Given the description of an element on the screen output the (x, y) to click on. 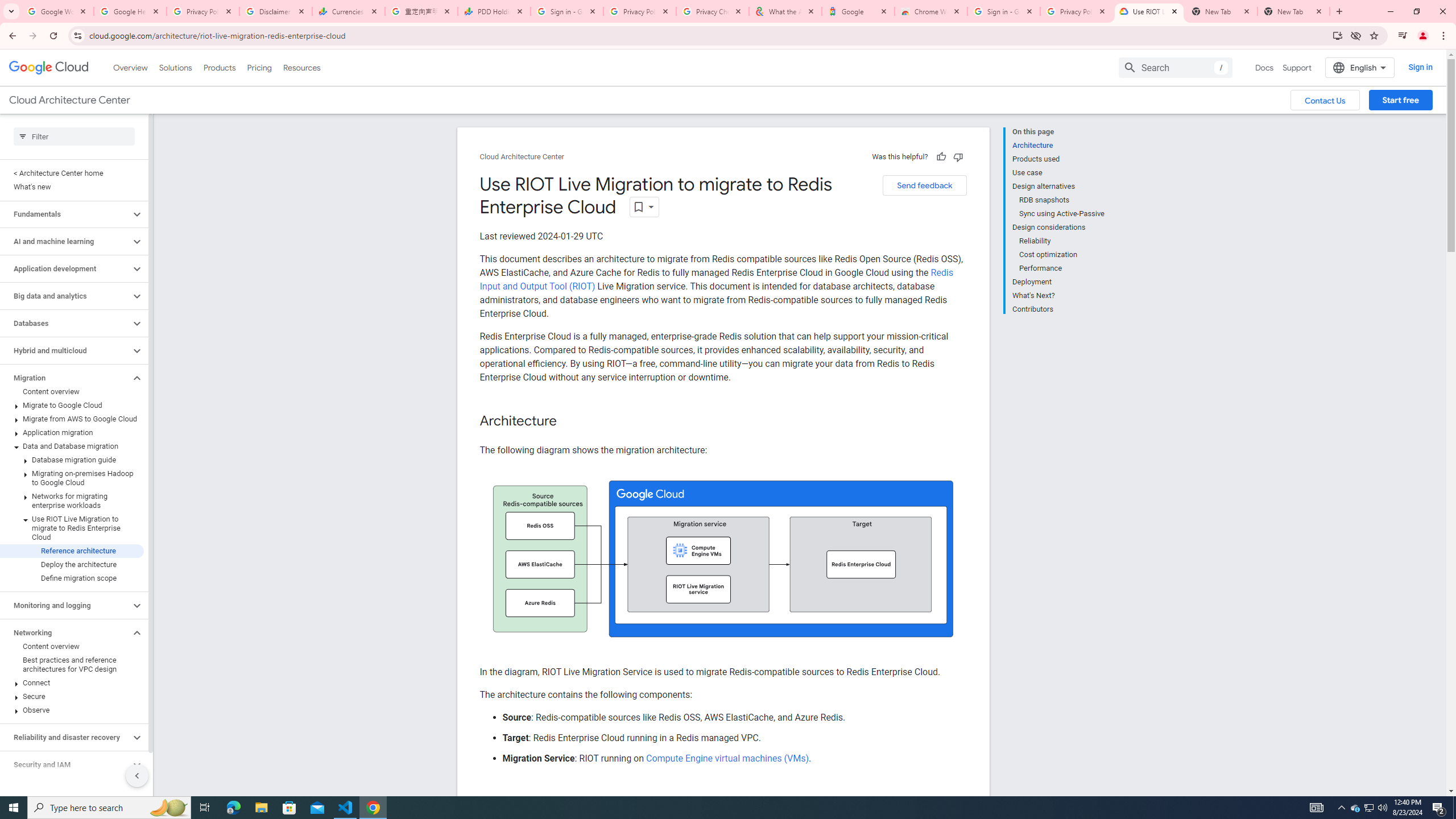
Start free (1400, 100)
Define migration scope (72, 578)
Content overview (72, 646)
Privacy Checkup (712, 11)
Redis Input and Output Tool (RIOT) (716, 278)
What's new (72, 187)
Application migration (72, 432)
Type to filter (74, 136)
Compute Engine virtual machines (VMs) (726, 758)
Copy link to this section: Architecture (567, 421)
Google (857, 11)
